Given the description of an element on the screen output the (x, y) to click on. 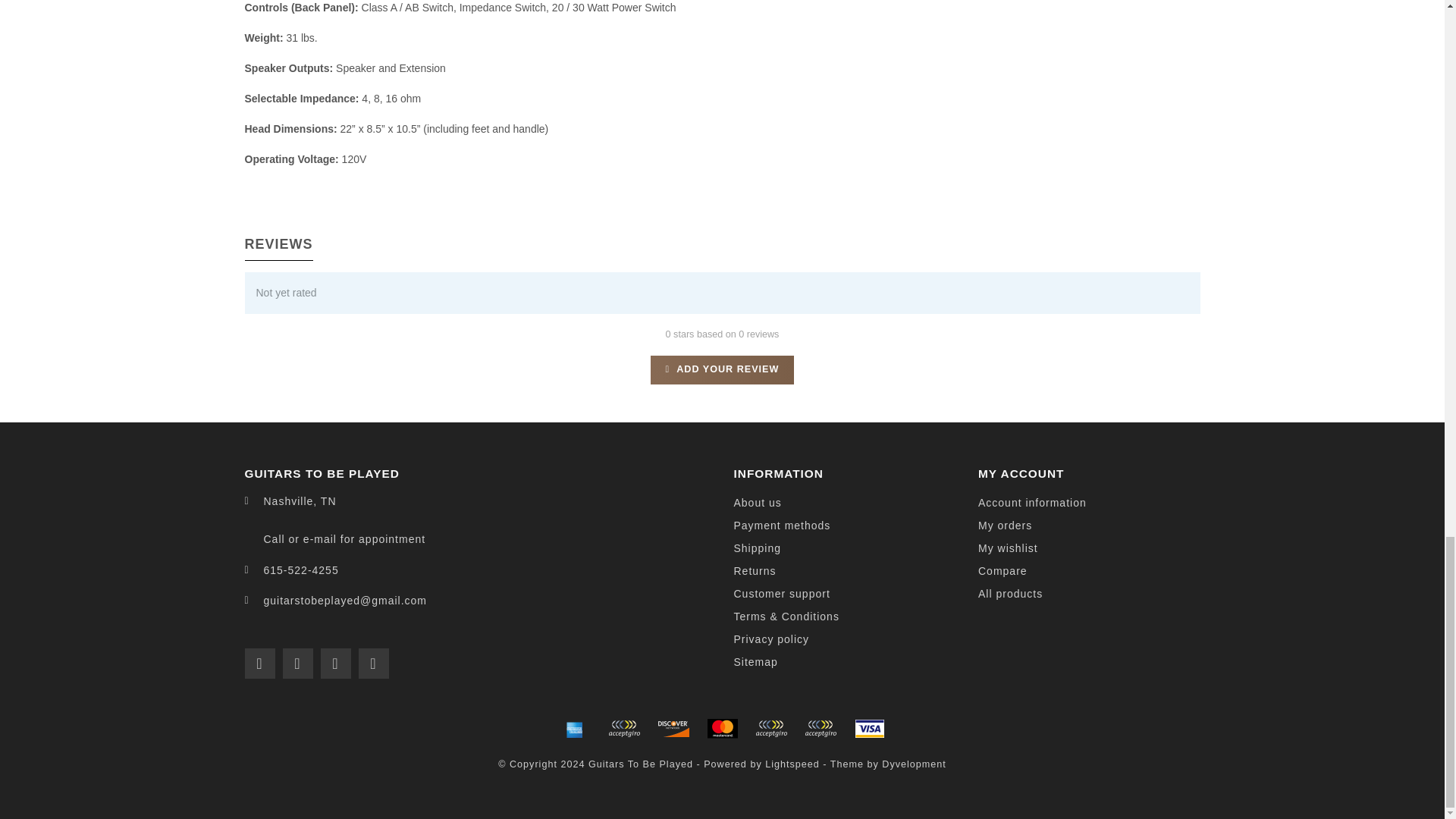
Payment methods (782, 526)
About us (757, 503)
Account information (1032, 503)
Shipping (757, 548)
Privacy policy (771, 639)
My orders (1005, 526)
Customer support (781, 594)
Add your review (722, 369)
Compare (1002, 571)
My wishlist (1008, 548)
Sitemap (755, 662)
Returns (754, 571)
